Given the description of an element on the screen output the (x, y) to click on. 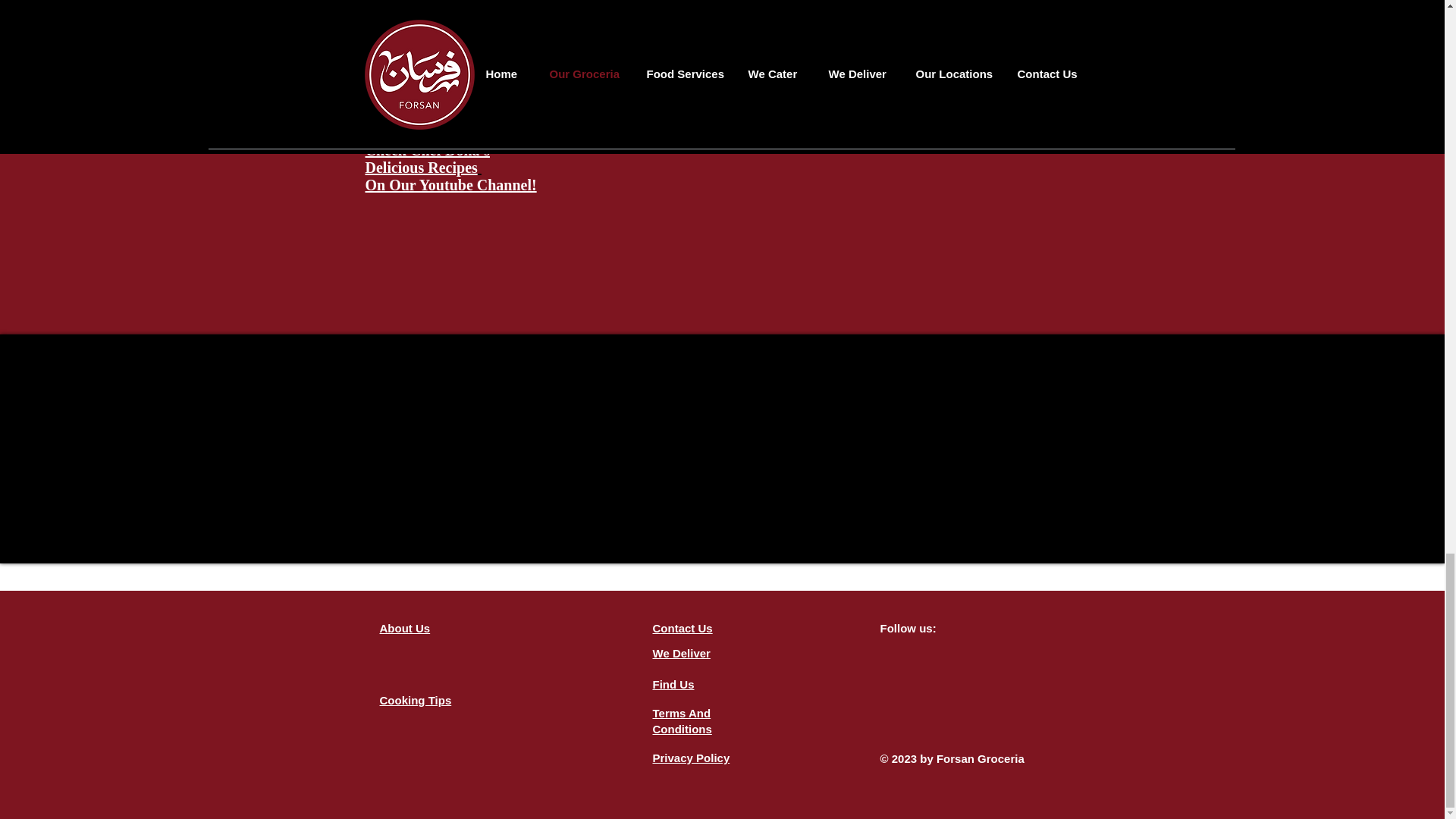
Cooking Tips (414, 699)
Terms And Conditions (681, 720)
About Us (403, 627)
We Deliver (681, 653)
Privacy Policy (690, 757)
Find Us (673, 684)
Contact Us (681, 627)
